Given the description of an element on the screen output the (x, y) to click on. 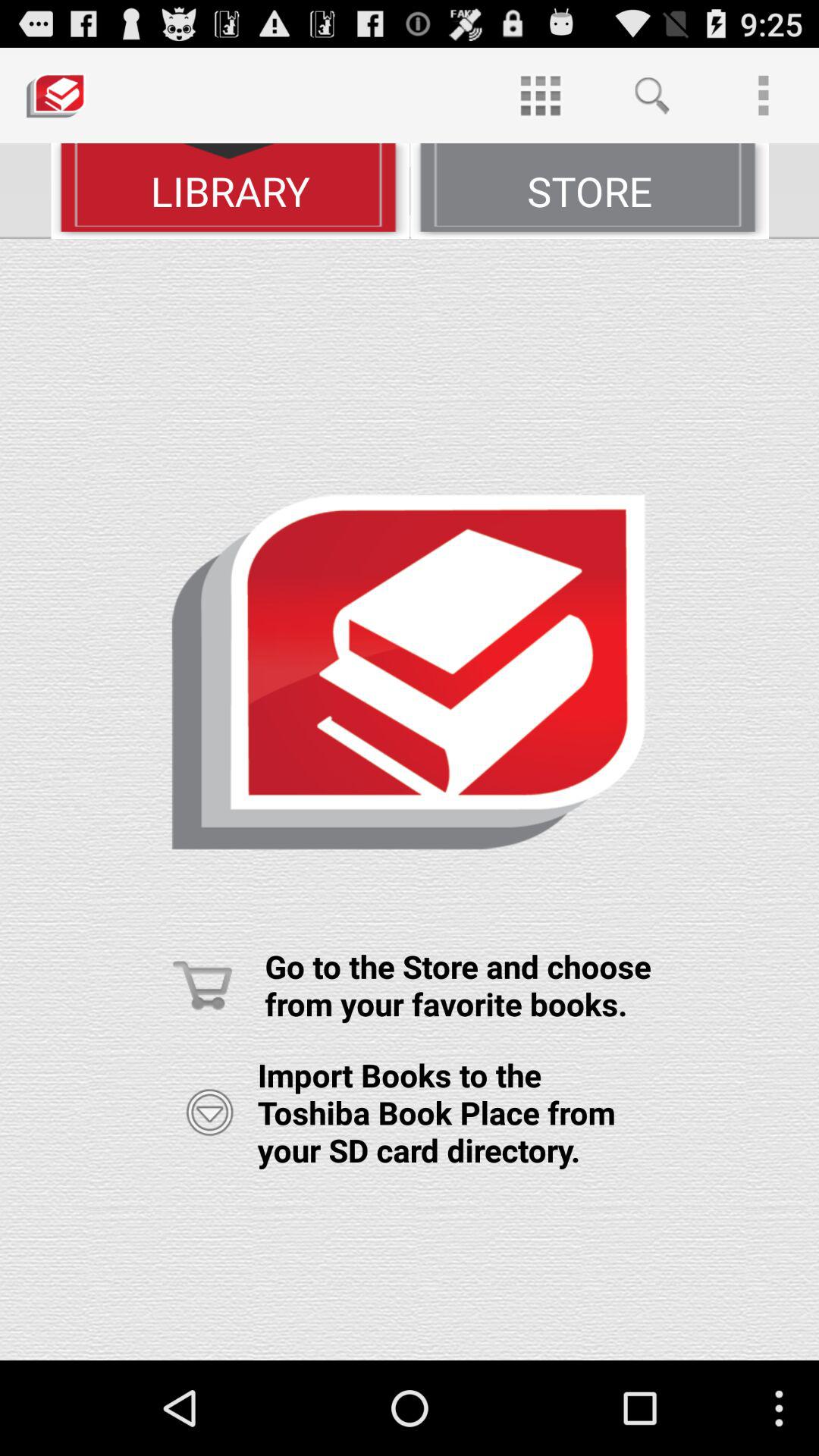
tap the item below library icon (409, 799)
